Given the description of an element on the screen output the (x, y) to click on. 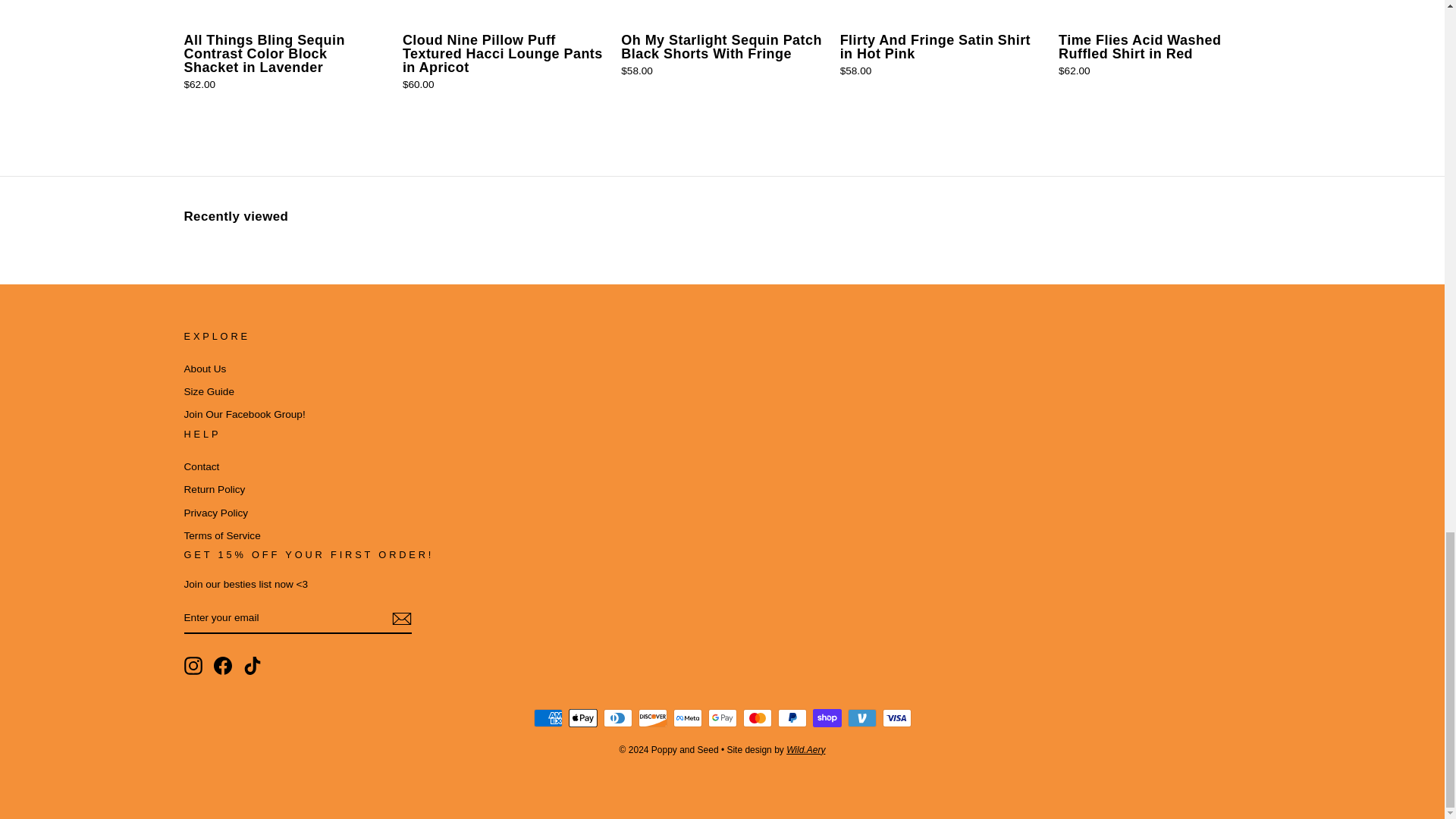
Poppy and Seed on Instagram (192, 665)
Meta Pay (686, 718)
Apple Pay (582, 718)
Diners Club (617, 718)
Discover (652, 718)
Poppy and Seed on TikTok (251, 665)
Google Pay (721, 718)
Poppy and Seed on Facebook (222, 665)
American Express (548, 718)
